Given the description of an element on the screen output the (x, y) to click on. 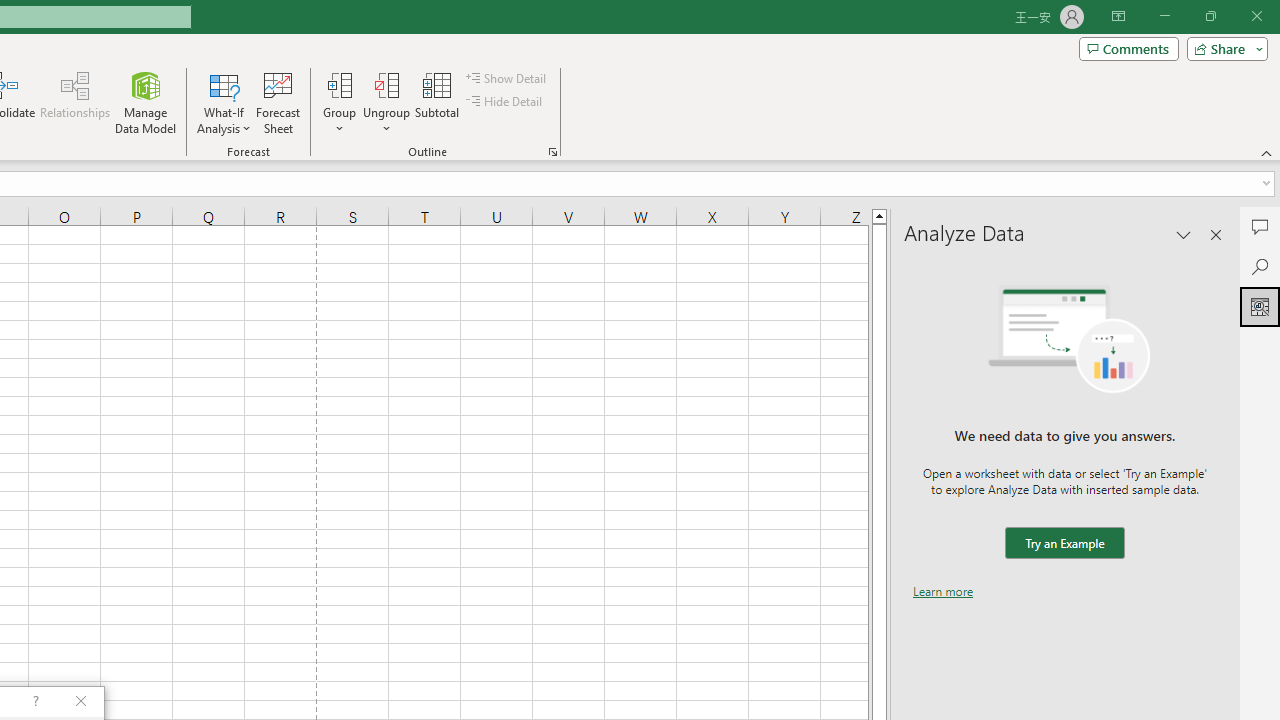
Subtotal (437, 102)
We need data to give you answers. Try an Example (1064, 543)
Relationships (75, 102)
Search (1260, 266)
What-If Analysis (223, 102)
Ungroup... (386, 84)
Show Detail (507, 78)
Group... (339, 102)
Ungroup... (386, 102)
Task Pane Options (1183, 234)
